Given the description of an element on the screen output the (x, y) to click on. 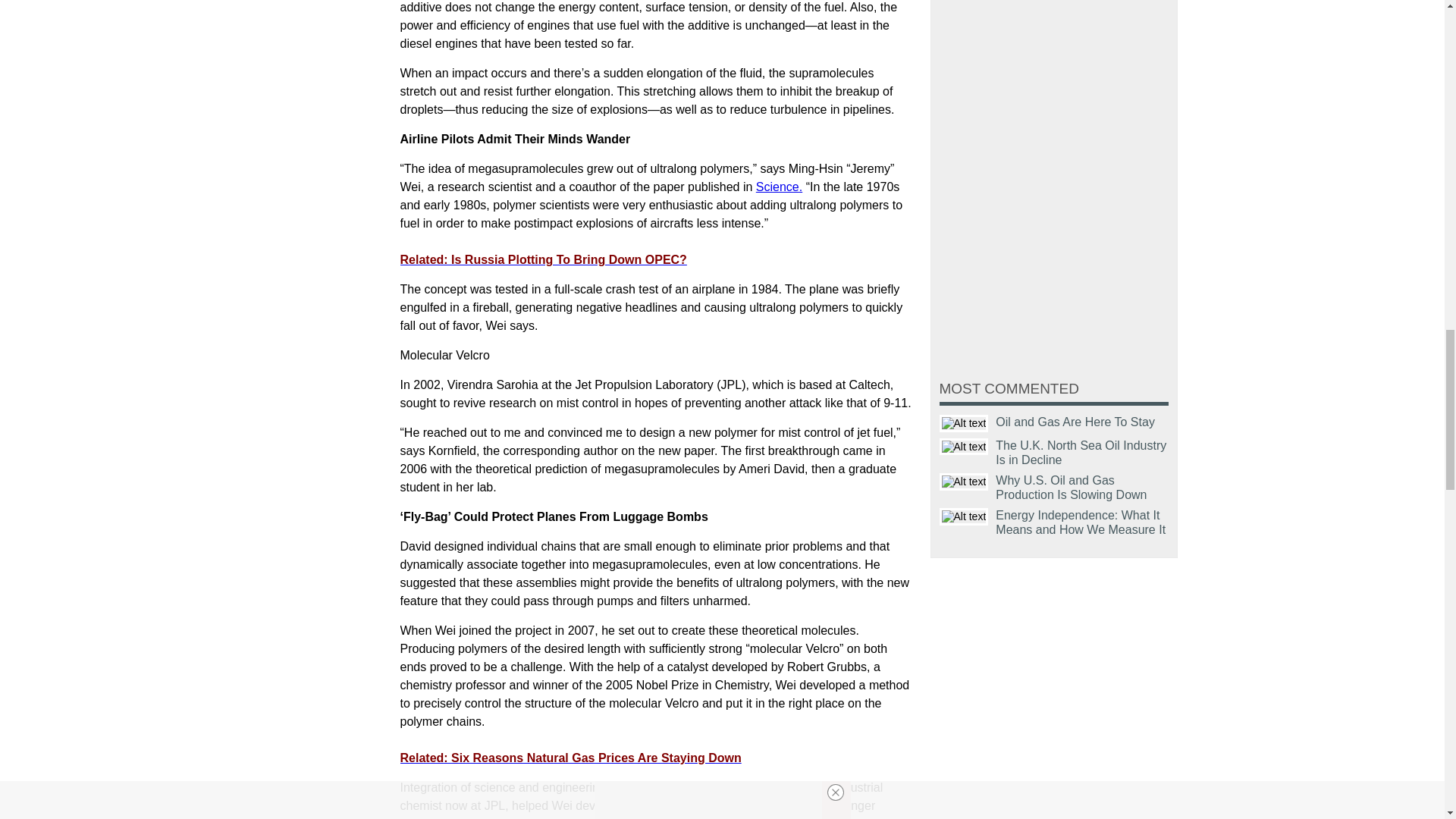
Title text (963, 423)
Title text (963, 446)
